Given the description of an element on the screen output the (x, y) to click on. 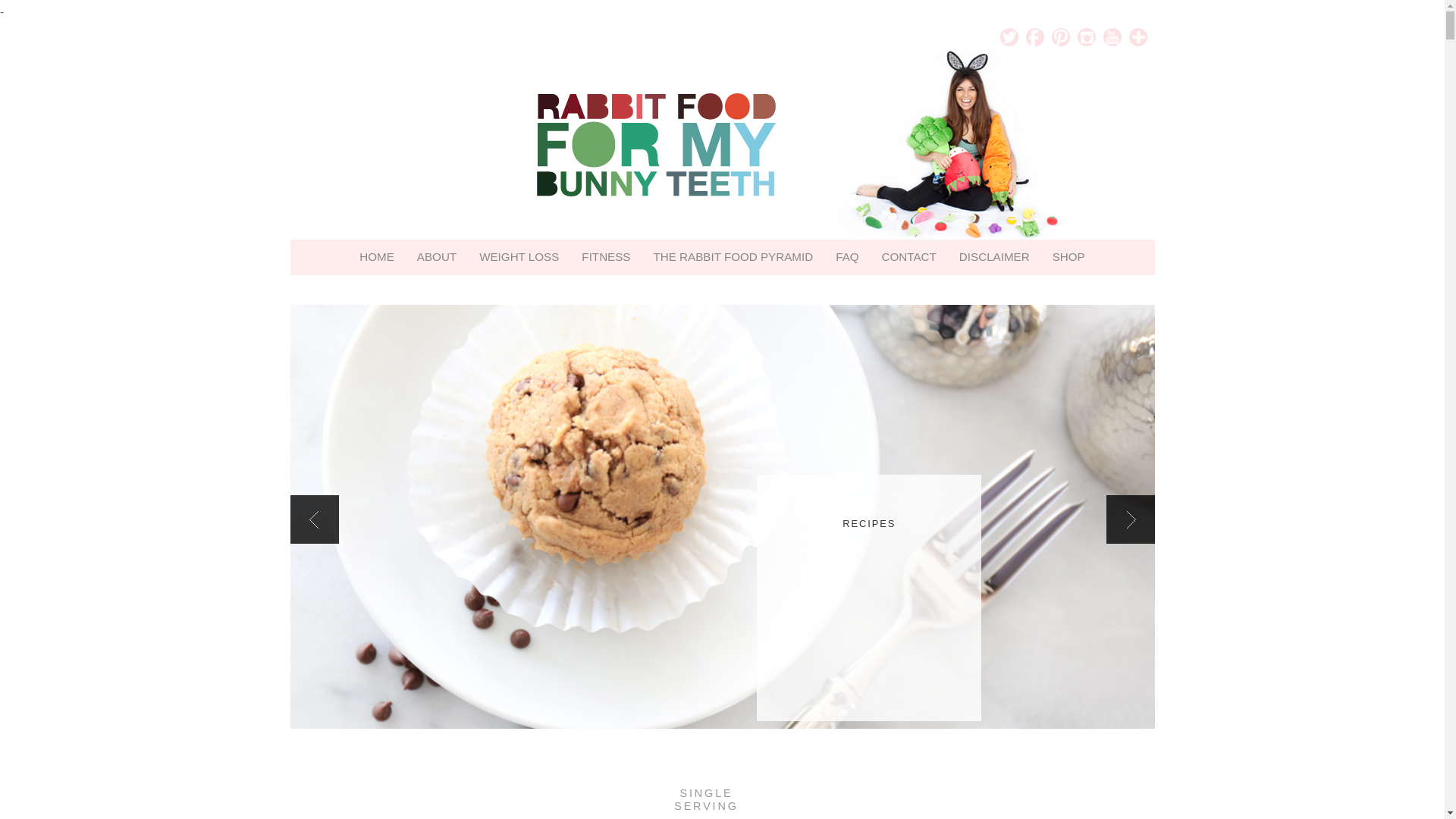
CONTACT (908, 256)
ABOUT (436, 256)
DISCLAIMER (994, 256)
Facebook (1034, 36)
Twitter (1007, 36)
FITNESS (606, 256)
Instagram (1085, 36)
Eat More Rabbit Food (721, 144)
HOME (376, 256)
WEIGHT LOSS (518, 256)
